Given the description of an element on the screen output the (x, y) to click on. 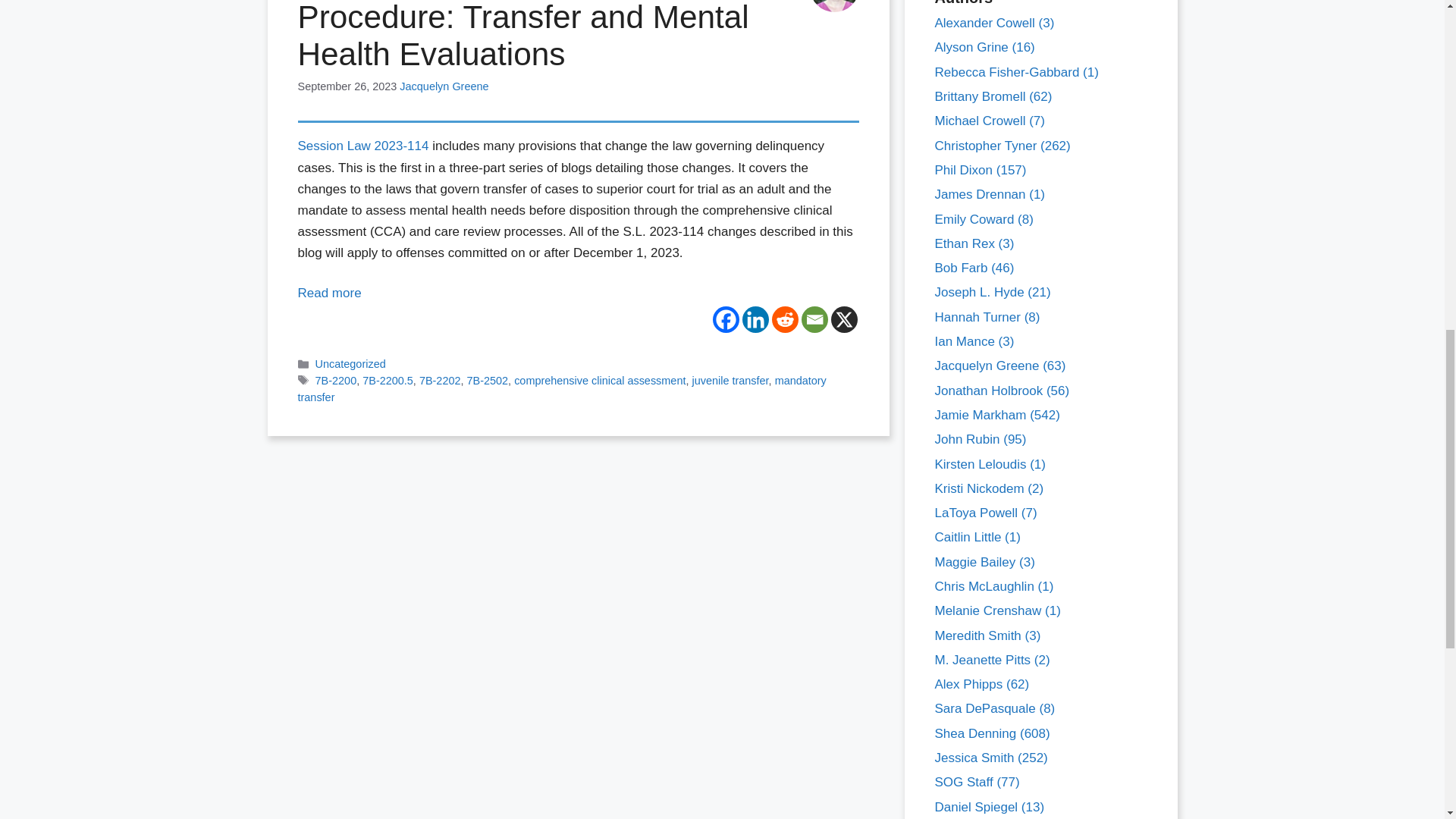
7B-2202 (440, 380)
7B-2502 (487, 380)
Read more (329, 292)
7B-2200.5 (387, 380)
Jacquelyn Greene (442, 86)
comprehensive clinical assessment (599, 380)
Linkedin (754, 319)
Uncategorized (350, 363)
